Given the description of an element on the screen output the (x, y) to click on. 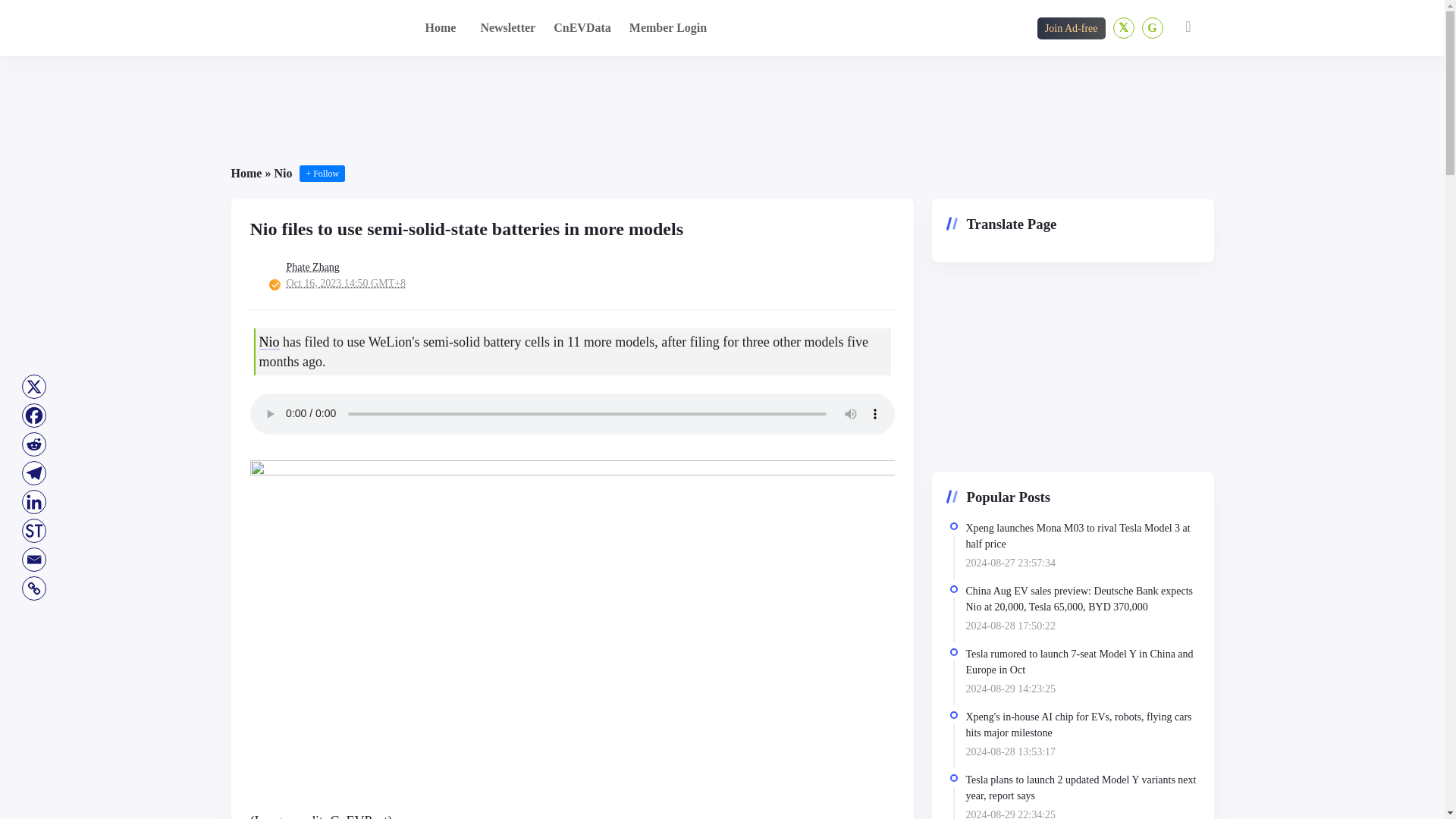
Join Ad-free (1070, 27)
Member Login (668, 27)
Home (440, 27)
Nio (282, 173)
Nio (269, 341)
Facebook (34, 415)
X (34, 386)
G (1152, 27)
Newsletter (507, 27)
Home (246, 173)
